Given the description of an element on the screen output the (x, y) to click on. 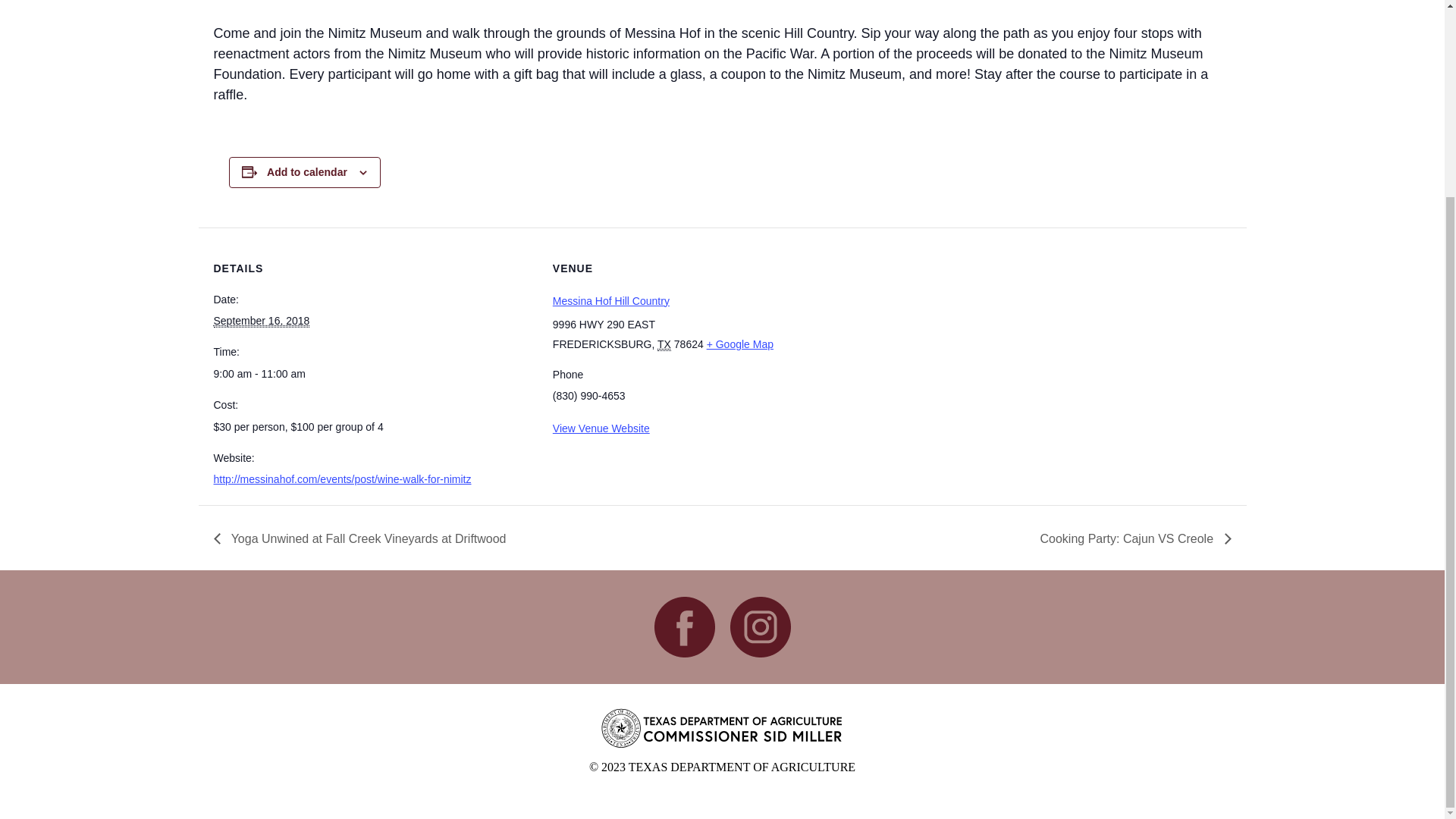
2018-09-16 (374, 373)
Add to calendar (306, 172)
2018-09-16 (262, 320)
View Venue Website (601, 428)
Click to view a Google Map (739, 344)
Cooking Party: Cajun VS Creole (1130, 537)
Yoga Unwined at Fall Creek Vineyards at Driftwood (364, 537)
Messina Hof Hill Country (611, 300)
Texas (664, 344)
